Given the description of an element on the screen output the (x, y) to click on. 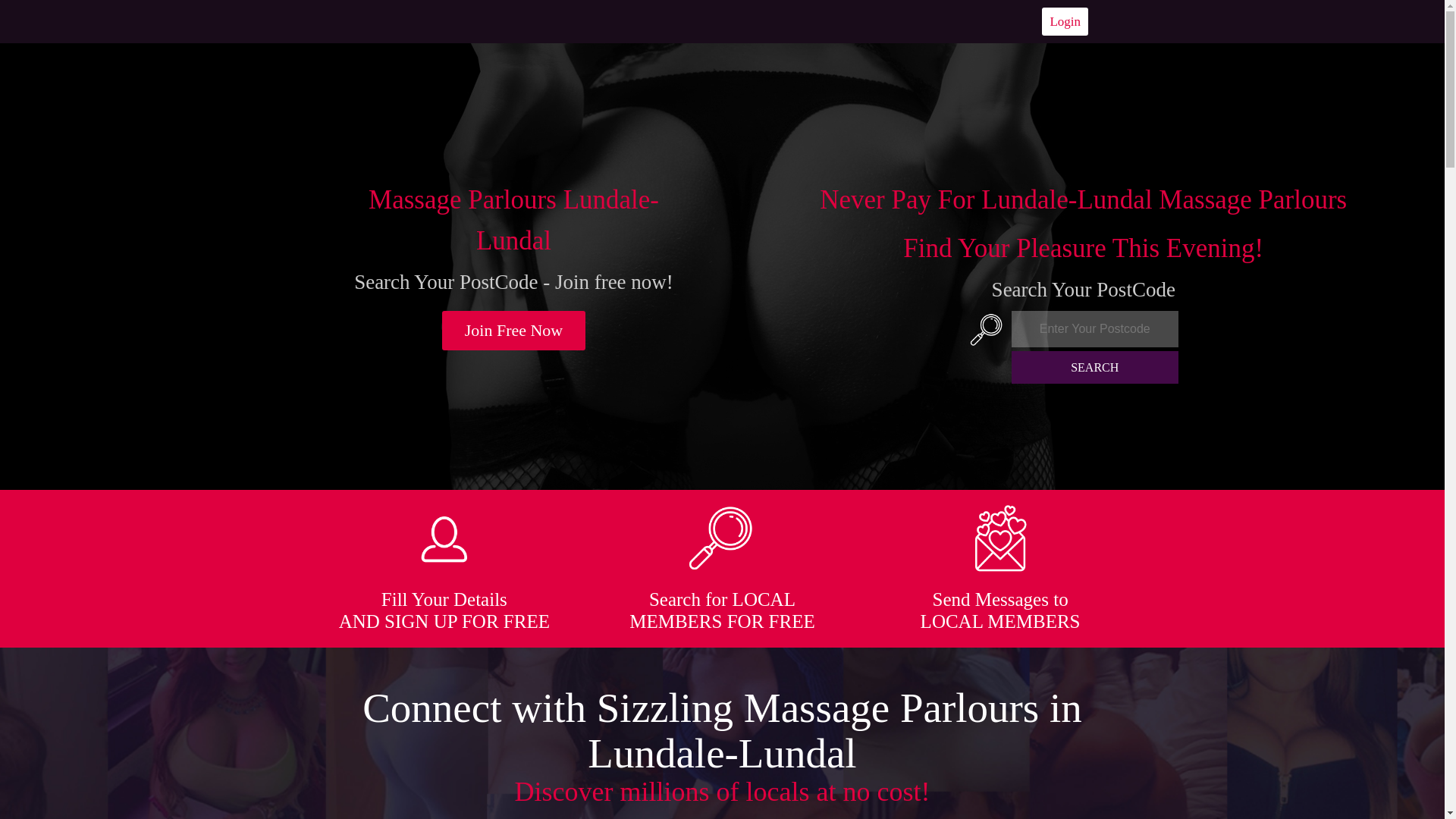
Login (1064, 21)
SEARCH (1094, 367)
Join Free Now (514, 330)
Join (514, 330)
Login (1064, 21)
